Given the description of an element on the screen output the (x, y) to click on. 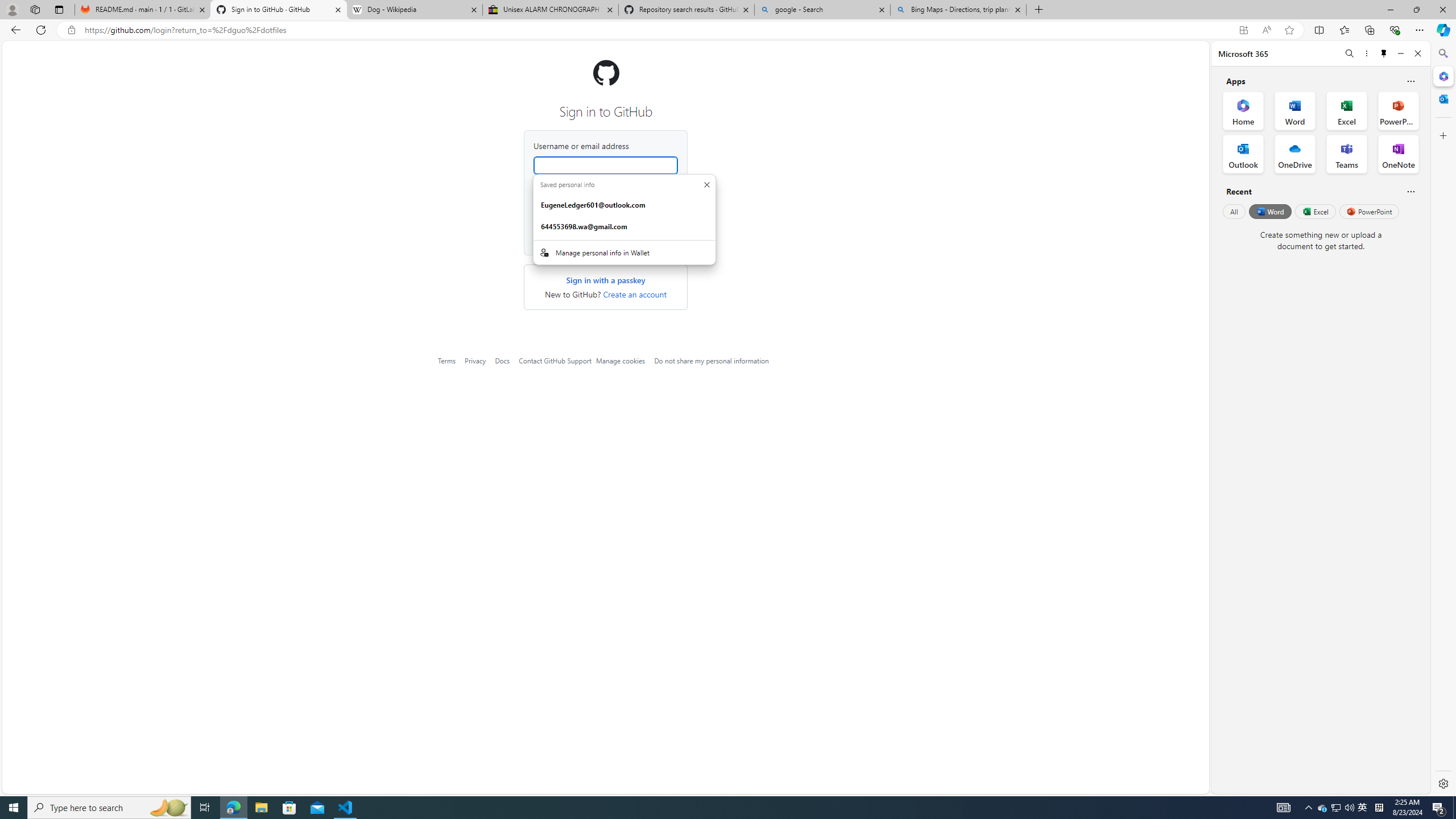
Word (1269, 210)
Docs (502, 360)
Word Office App (1295, 110)
Manage cookies (620, 360)
Excel (1315, 210)
More options (1366, 53)
Excel Office App (1346, 110)
Docs (502, 360)
Privacy (475, 360)
Personal Profile (12, 9)
All (1233, 210)
